Given the description of an element on the screen output the (x, y) to click on. 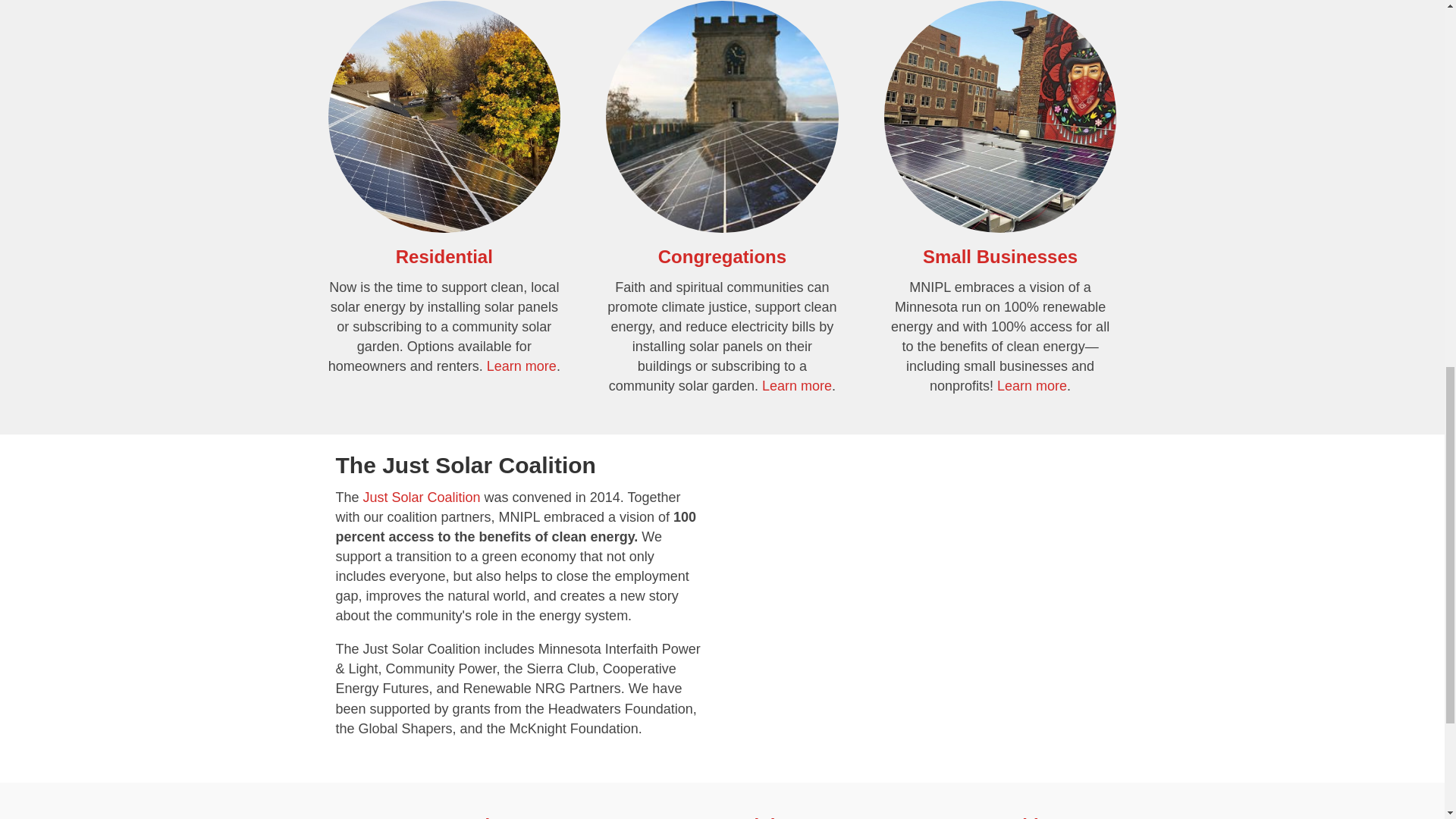
solar-apadana (443, 116)
solar (721, 116)
Just Community Solar: A Story of Faith in Action! (922, 569)
solar-success (999, 116)
